Given the description of an element on the screen output the (x, y) to click on. 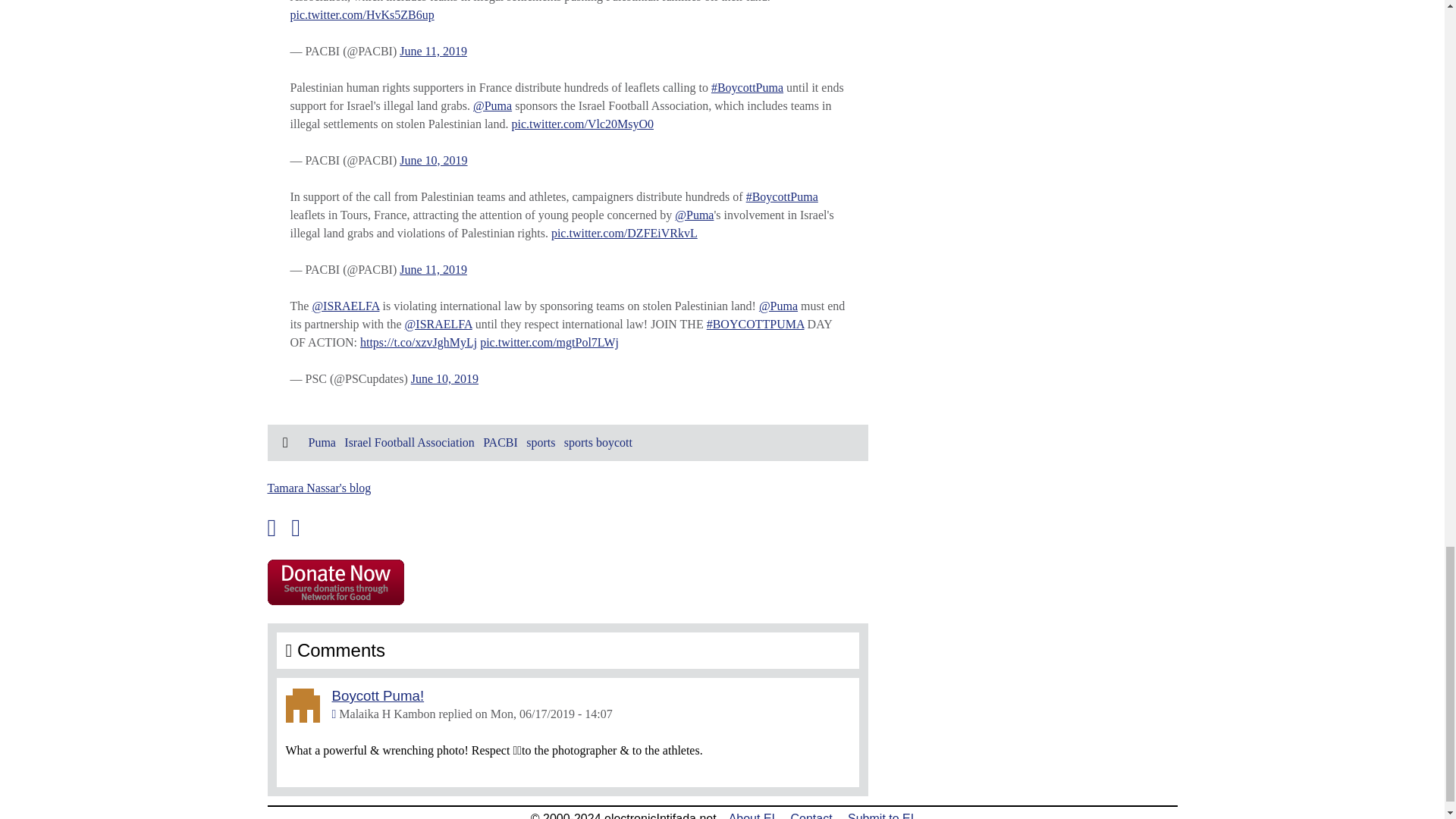
Read Tamara Nassar's latest blog entries. (318, 487)
June 11, 2019 (432, 51)
June 10, 2019 (432, 160)
